Given the description of an element on the screen output the (x, y) to click on. 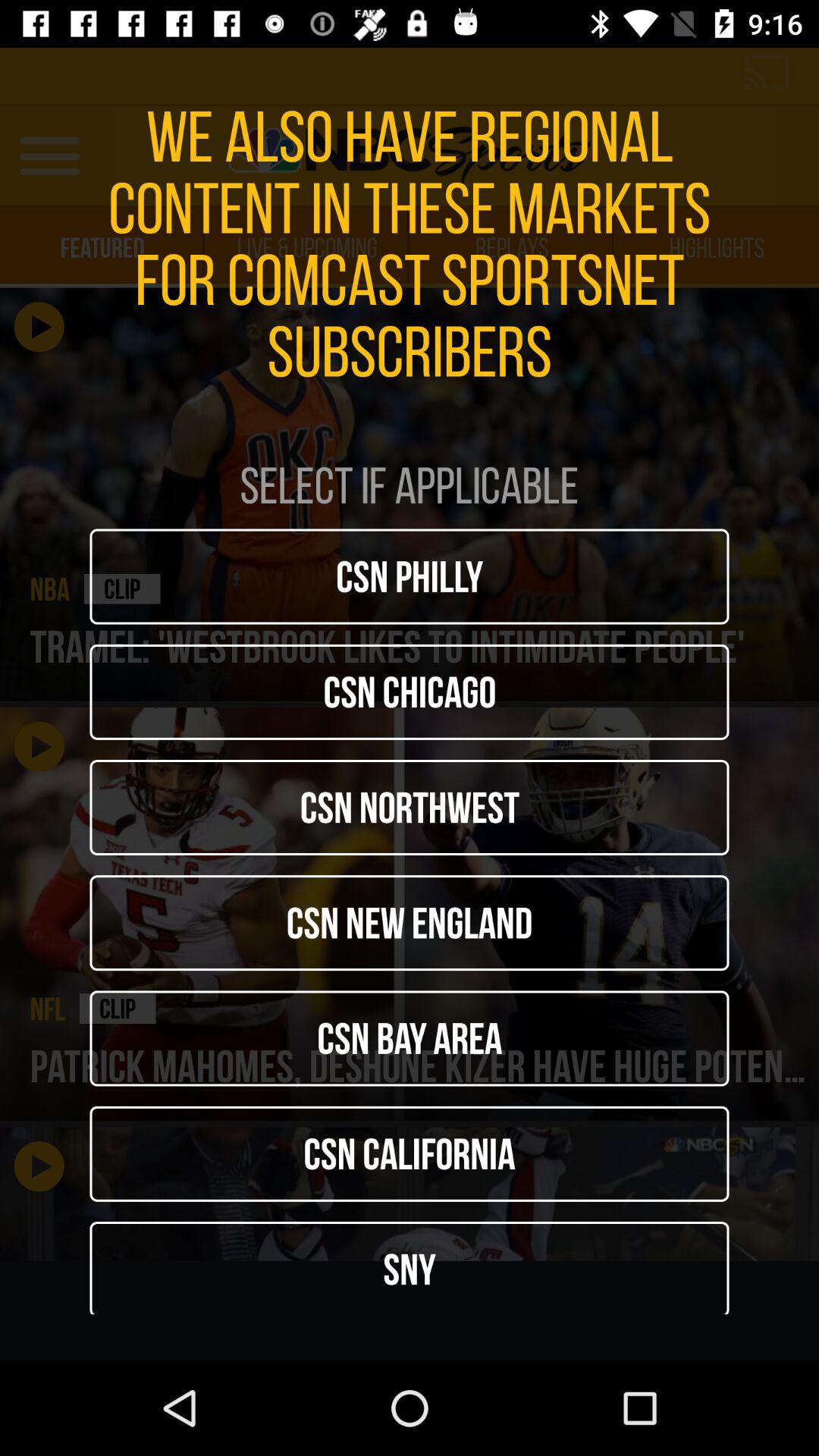
scroll until csn bay area icon (409, 1038)
